Given the description of an element on the screen output the (x, y) to click on. 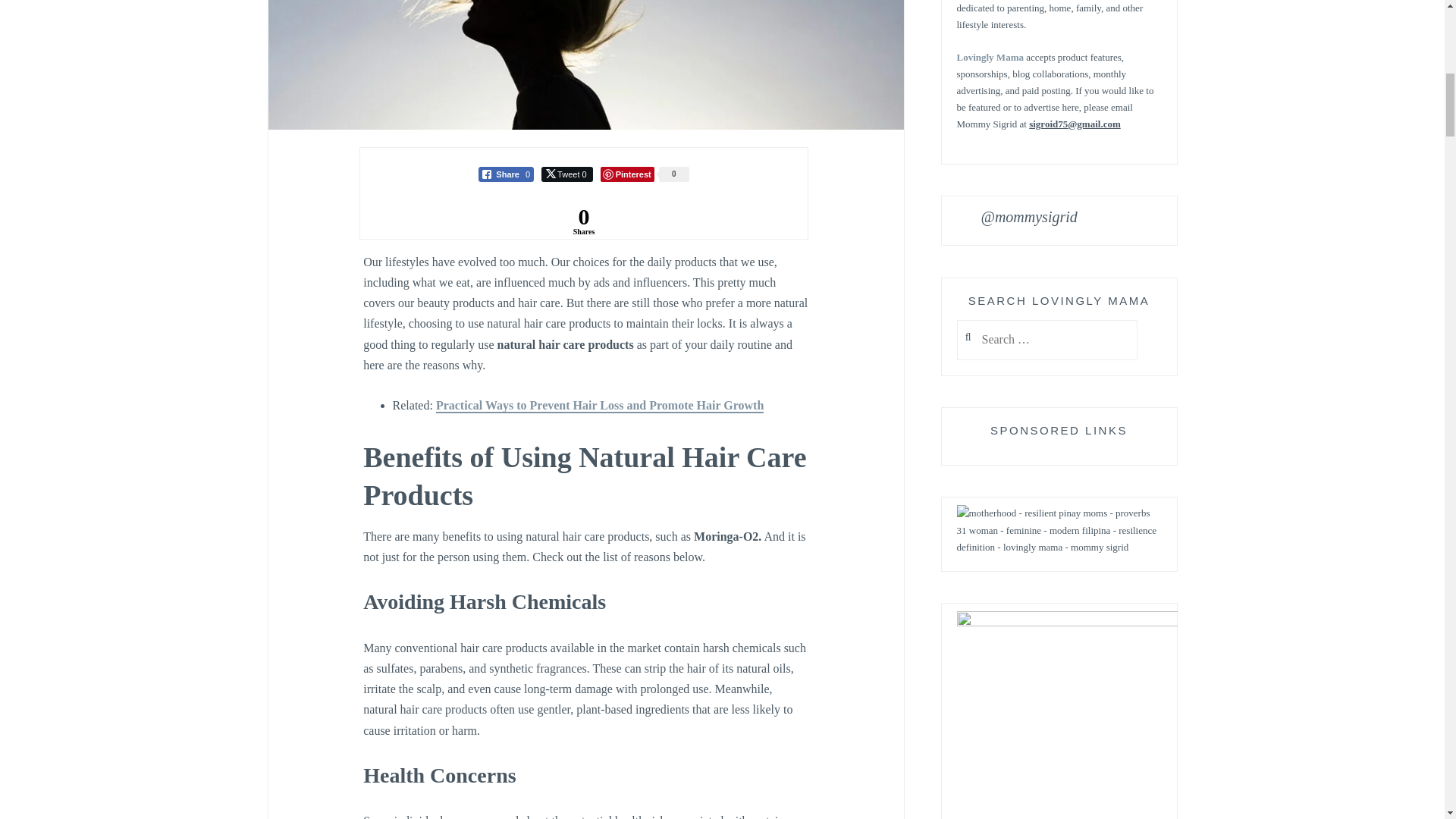
Pinterest0 (643, 174)
Practical Ways to Prevent Hair Loss and Promote Hair Growth (598, 405)
Tweet 0 (566, 174)
Share 0 (506, 174)
